Given the description of an element on the screen output the (x, y) to click on. 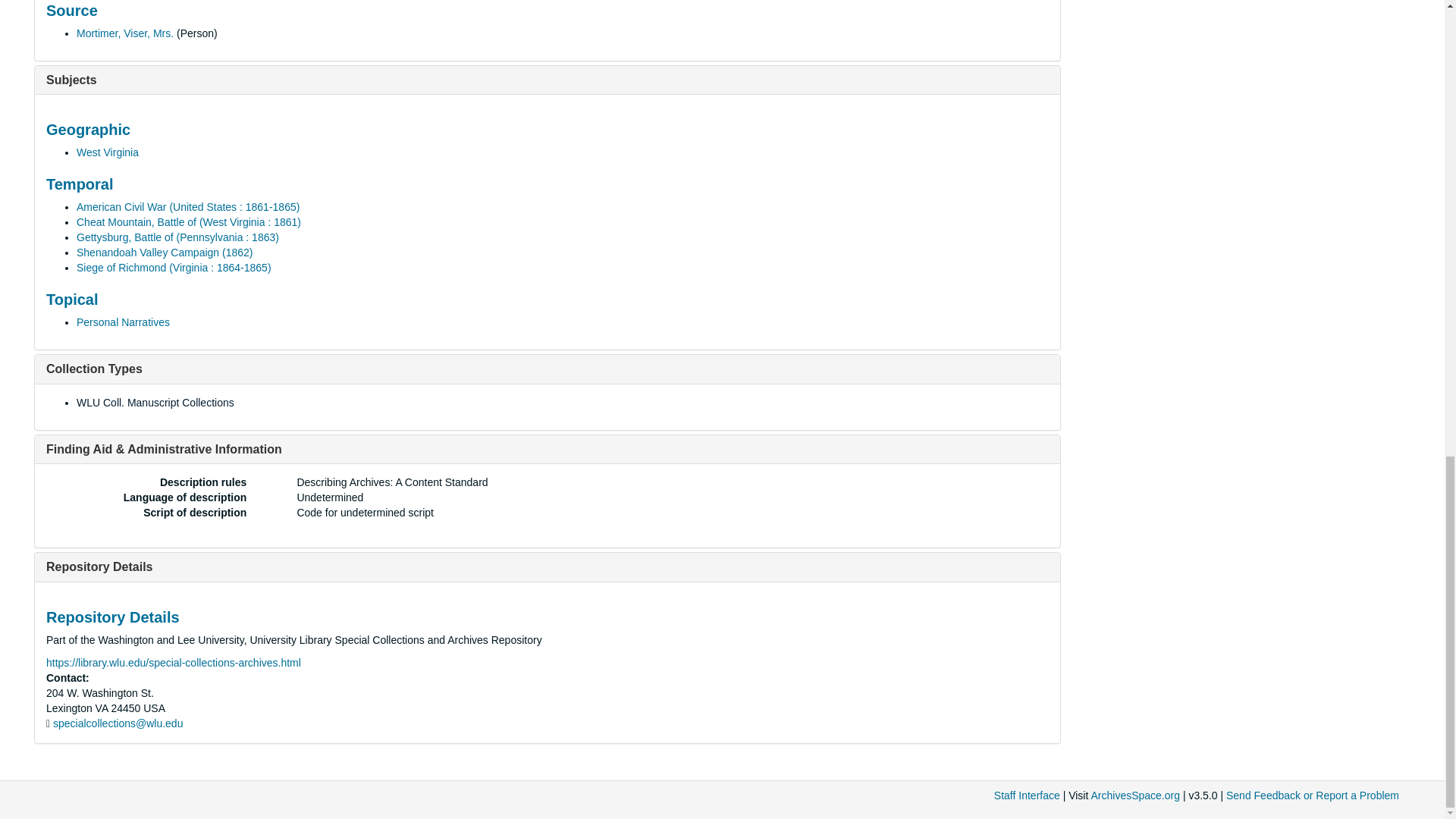
Subjects (71, 79)
West Virginia (107, 152)
Mortimer, Viser, Mrs. (125, 33)
Collection Types (94, 368)
Personal Narratives (123, 322)
WLU Coll. Manuscript Collections (155, 402)
Send email (117, 723)
Repository Details (99, 566)
